Given the description of an element on the screen output the (x, y) to click on. 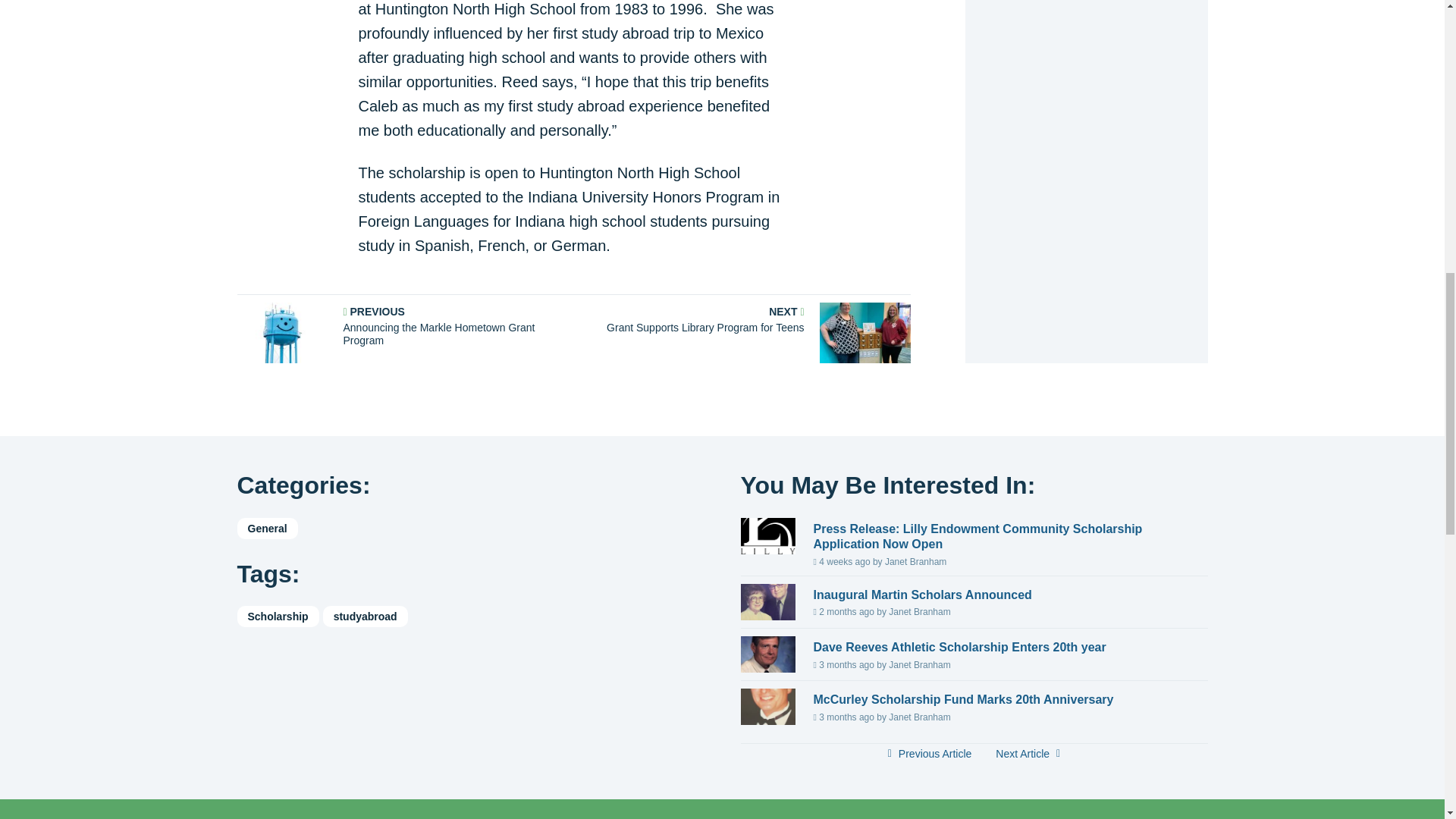
Previous Article (745, 332)
studyabroad (928, 752)
Scholarship (365, 616)
General (276, 616)
